Given the description of an element on the screen output the (x, y) to click on. 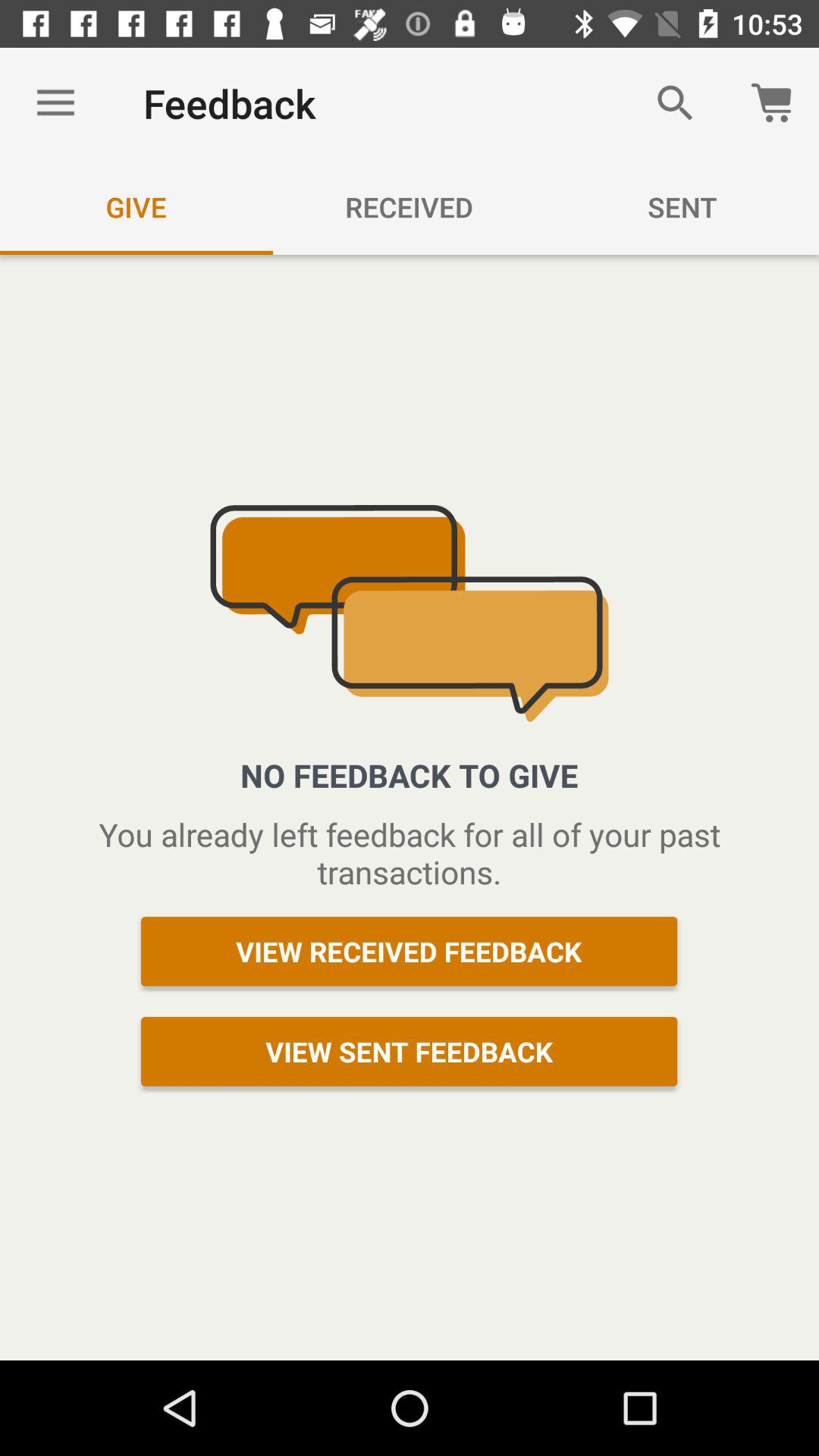
turn off item to the left of the feedback item (55, 103)
